Given the description of an element on the screen output the (x, y) to click on. 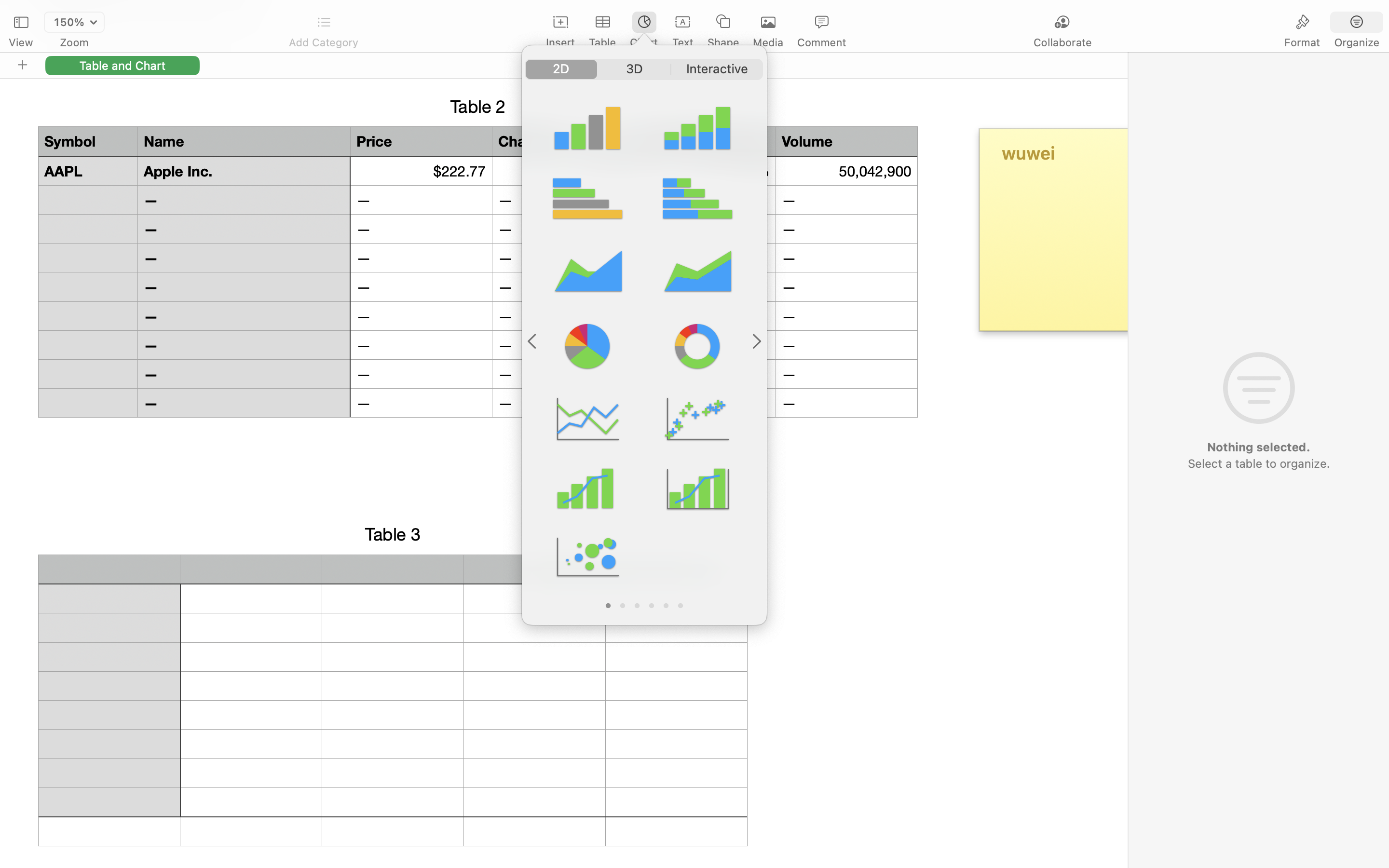
Media Element type: AXStaticText (767, 42)
Zoom Element type: AXStaticText (73, 42)
Add Category Element type: AXStaticText (322, 42)
<AXUIElement 0x17829b440> {pid=1420} Element type: AXRadioGroup (643, 69)
Select a table to organize. Element type: AXStaticText (1258, 463)
